Given the description of an element on the screen output the (x, y) to click on. 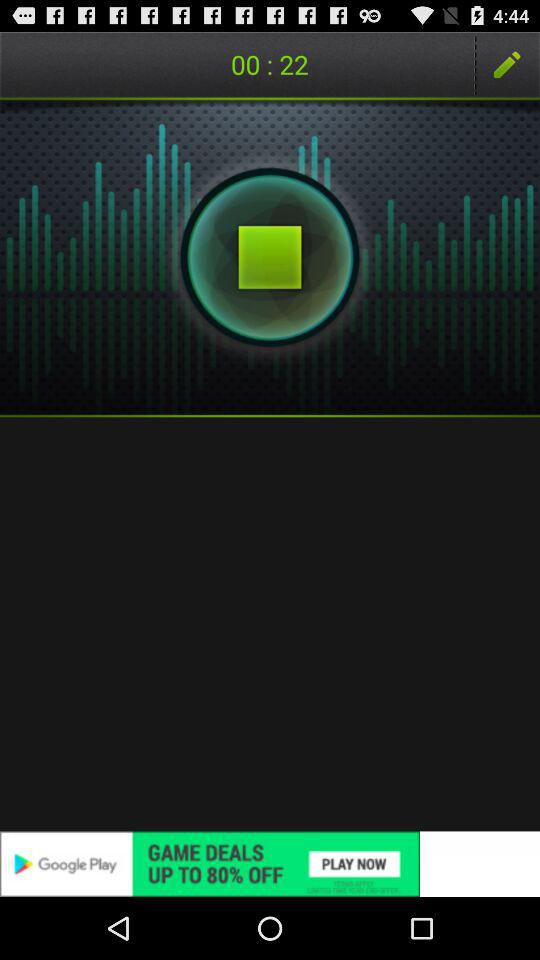
stop button (270, 257)
